Given the description of an element on the screen output the (x, y) to click on. 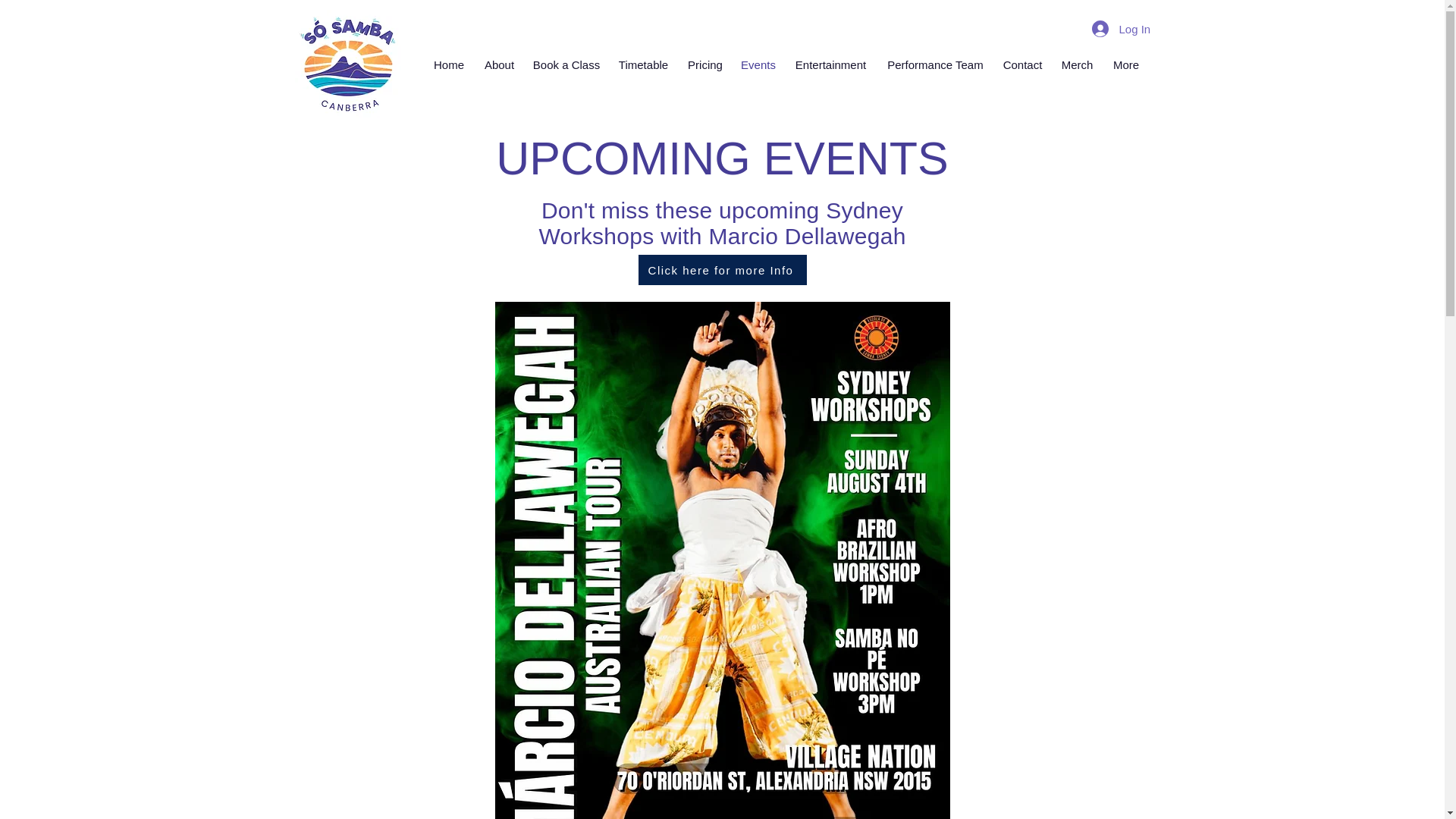
Timetable (643, 65)
Performance Team (934, 65)
Pricing (705, 65)
Book a Class (566, 65)
Entertainment (830, 65)
Click here for more Info (722, 269)
Merch (1076, 65)
Home (448, 65)
Log In (1115, 28)
Events (758, 65)
Contact (1021, 65)
